Given the description of an element on the screen output the (x, y) to click on. 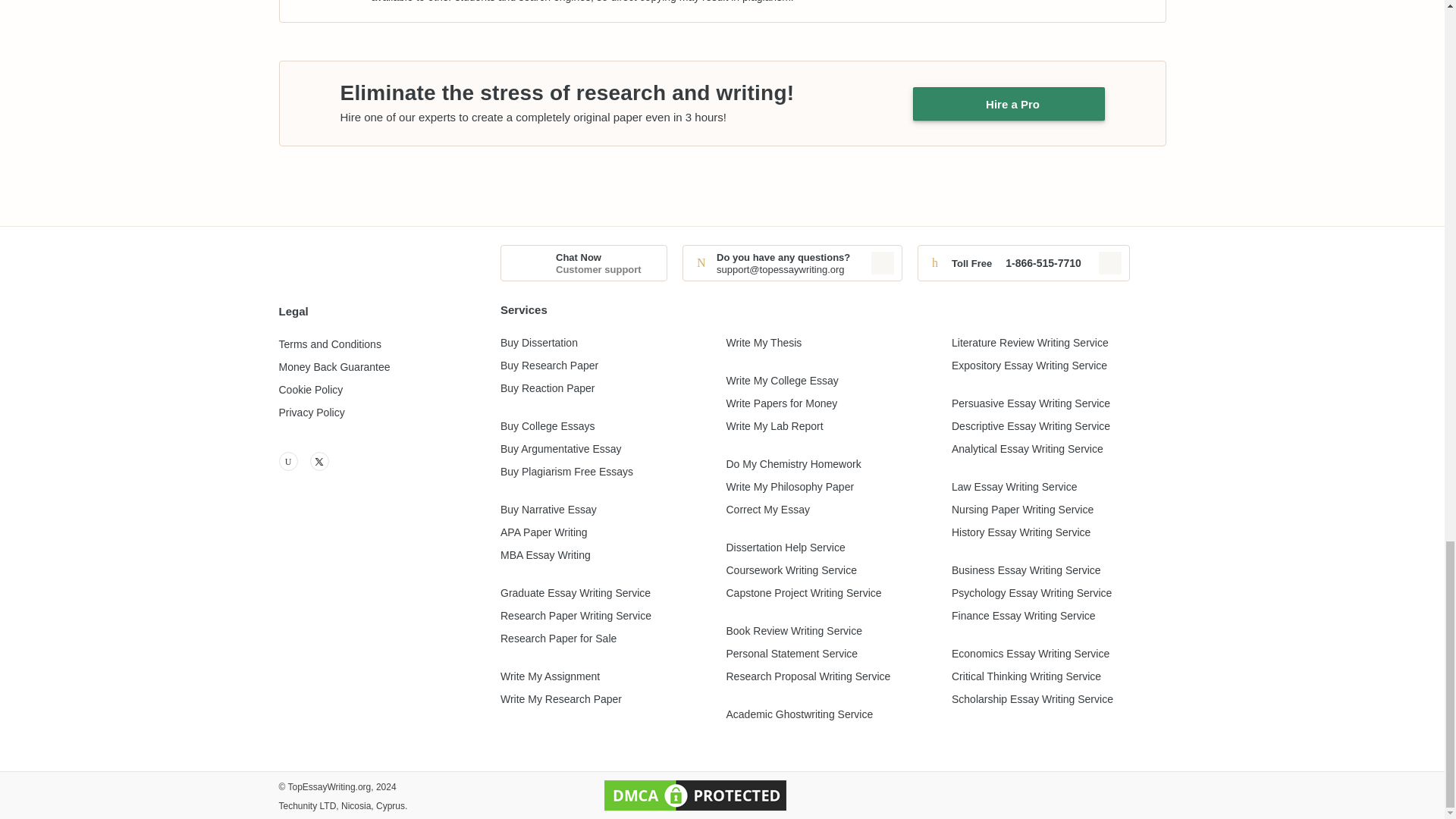
Copied to clipboard (881, 262)
Hire a Pro (1008, 103)
Copied to clipboard (1110, 262)
DMCA.com Protection Status (694, 795)
